Given the description of an element on the screen output the (x, y) to click on. 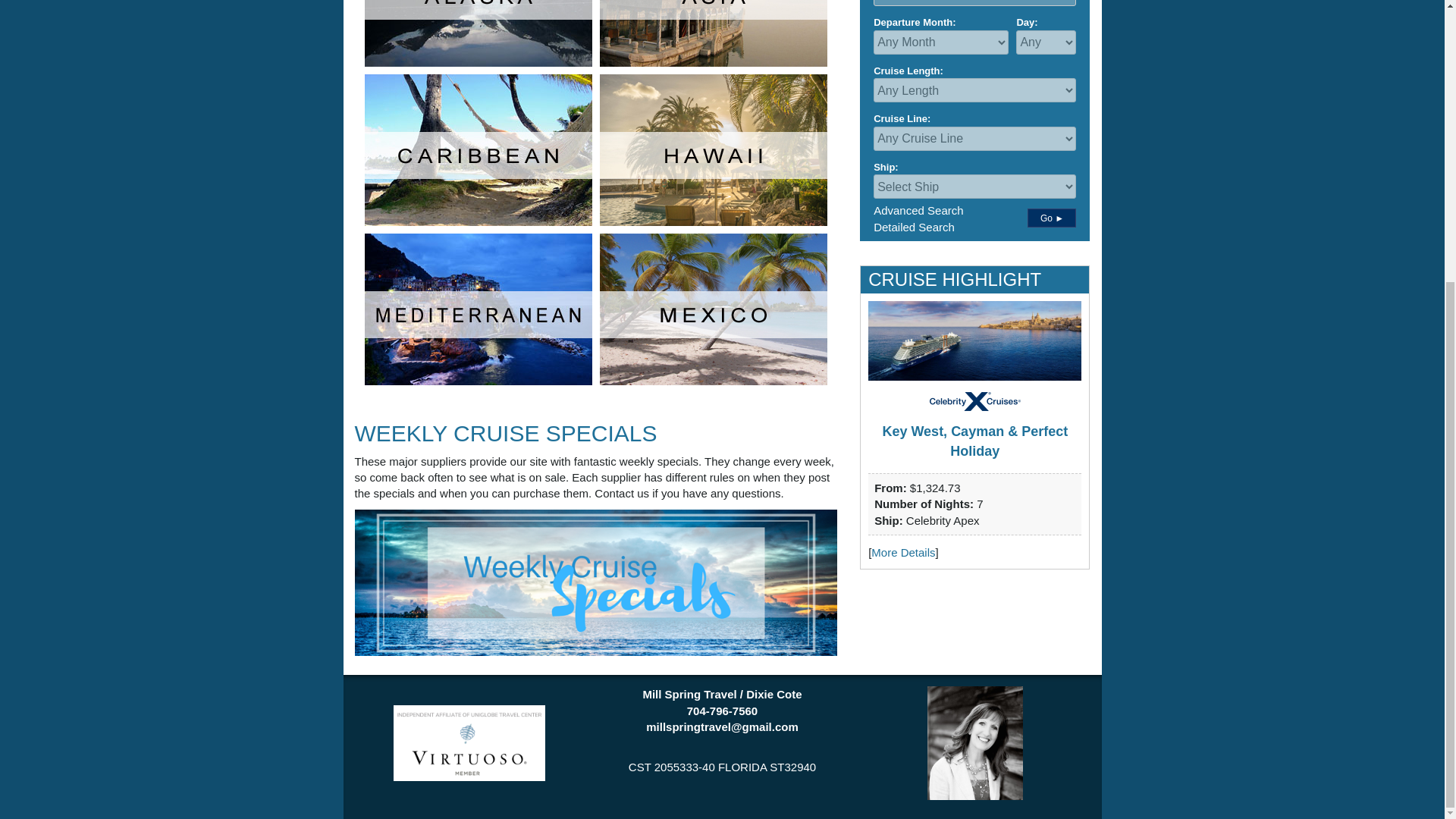
More Details (902, 552)
Advanced Search (917, 210)
Detailed Search (914, 226)
